Given the description of an element on the screen output the (x, y) to click on. 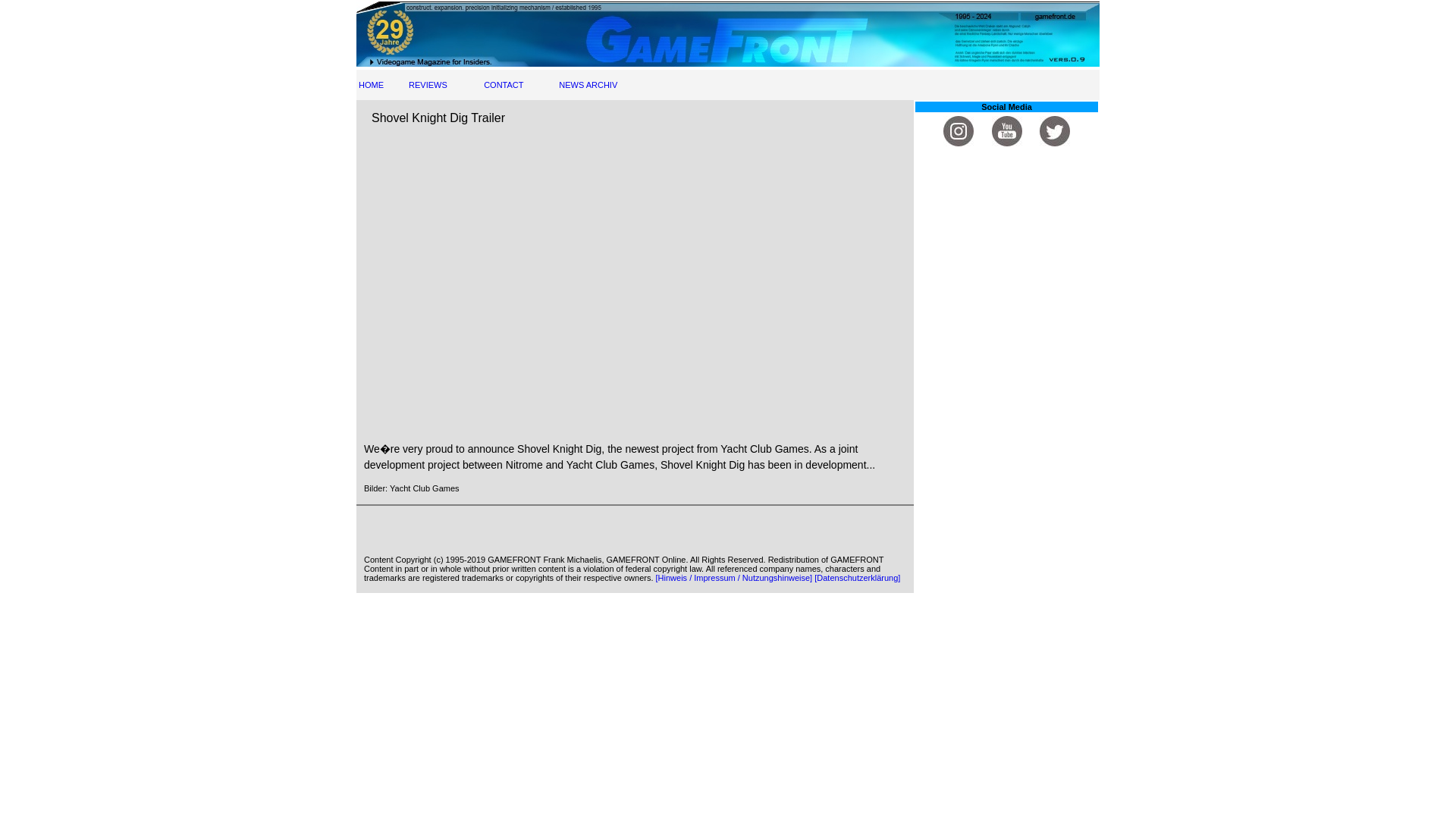
REVIEWS (427, 84)
NEWS ARCHIV (588, 84)
CONTACT (502, 84)
HOME (371, 84)
